Given the description of an element on the screen output the (x, y) to click on. 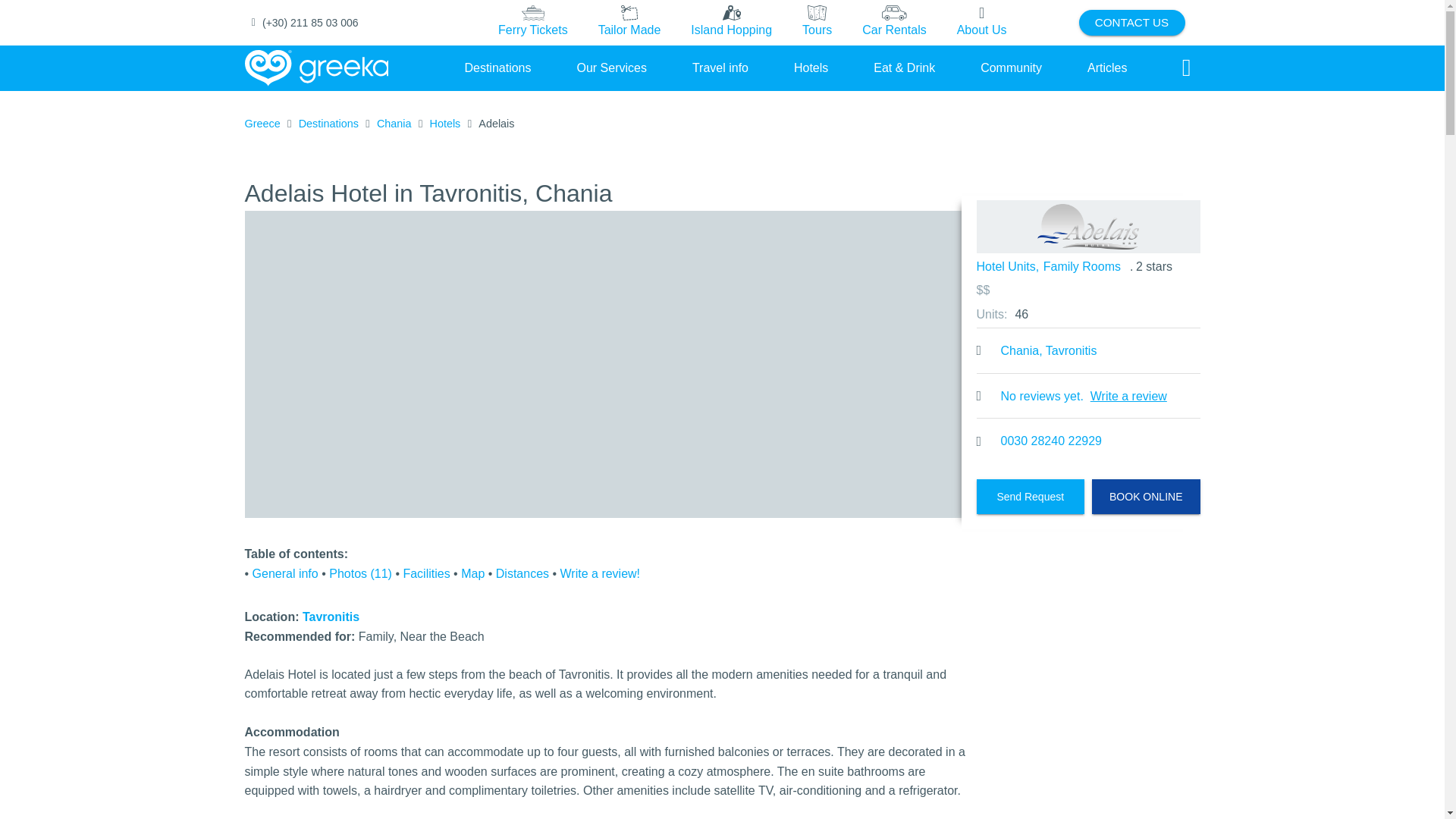
Hotel Units (1005, 266)
Ferry Tickets (532, 22)
Contact us (1131, 22)
Car rentals (893, 22)
No reviews yet.  Write a review (1087, 395)
Island hopping (731, 22)
Chania (394, 123)
Destinations (328, 123)
About Us (981, 22)
Family Rooms (1082, 266)
